Given the description of an element on the screen output the (x, y) to click on. 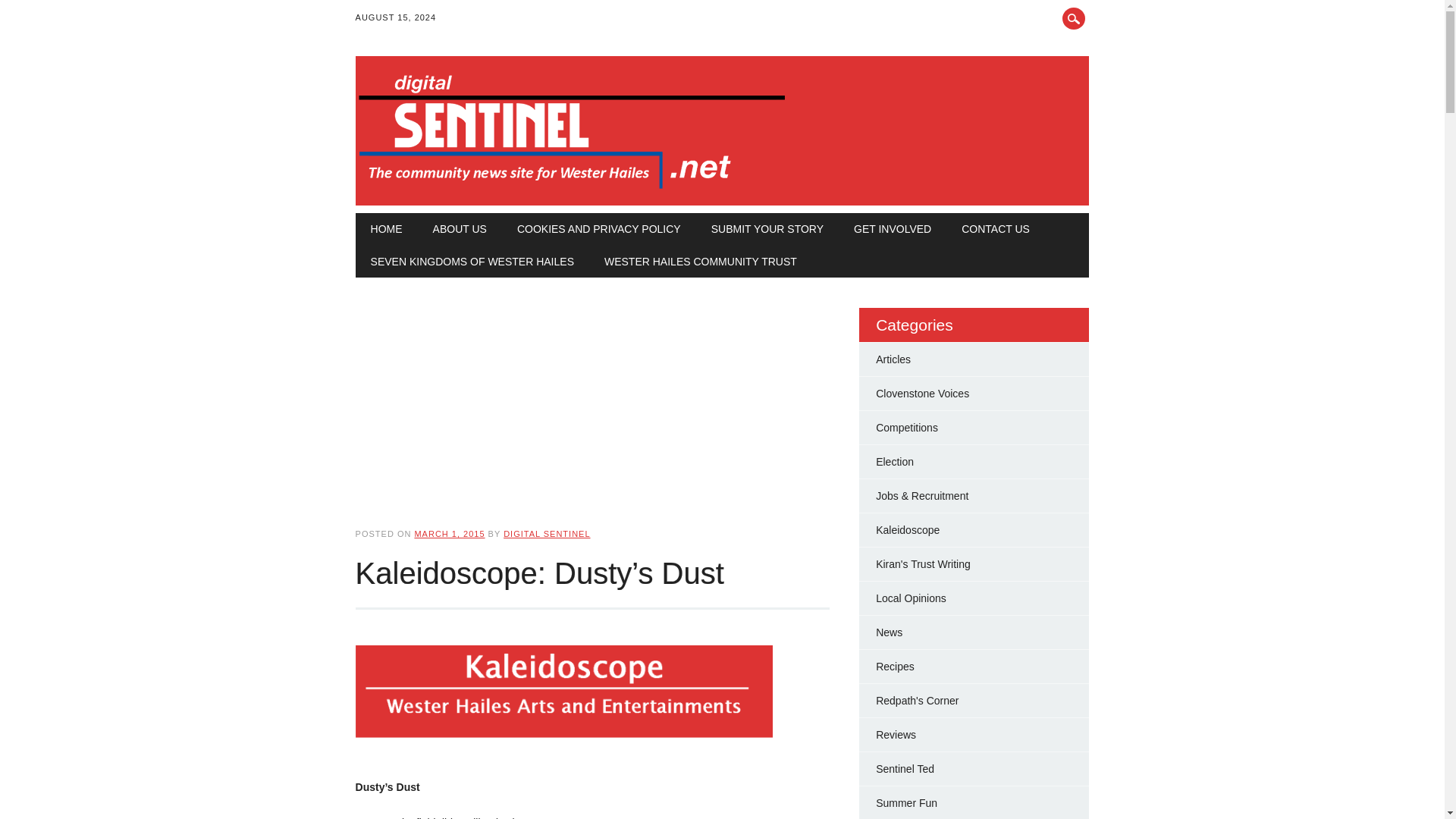
Articles (893, 358)
Digital Sentinel (572, 189)
Kiran's Trust Writing (923, 563)
Recipes (895, 666)
MARCH 1, 2015 (448, 533)
Kaleidoscope (907, 530)
SUBMIT YOUR STORY (766, 228)
GET INVOLVED (892, 228)
HOME (386, 228)
Election (895, 461)
